Given the description of an element on the screen output the (x, y) to click on. 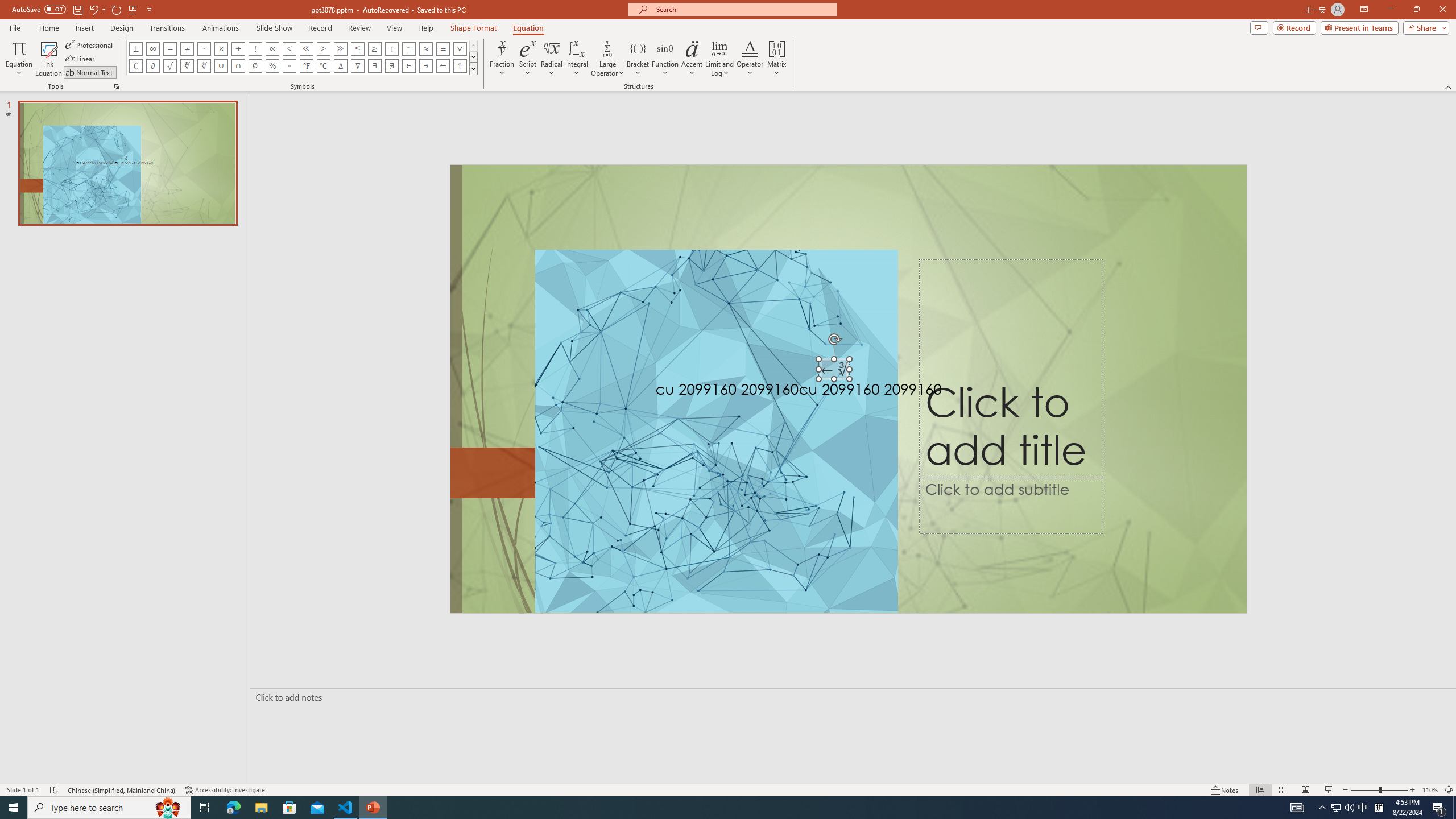
Equation Symbol Nabla (357, 65)
Professional (90, 44)
Equation Symbol Complement (136, 65)
Equation Symbol For All (459, 48)
Equation Symbol Element Of (408, 65)
Matrix (776, 58)
Ink Equation (48, 58)
Equation Symbol Up Arrow (459, 65)
Equation Symbol Approximately Equal To (408, 48)
Equation (528, 28)
